Given the description of an element on the screen output the (x, y) to click on. 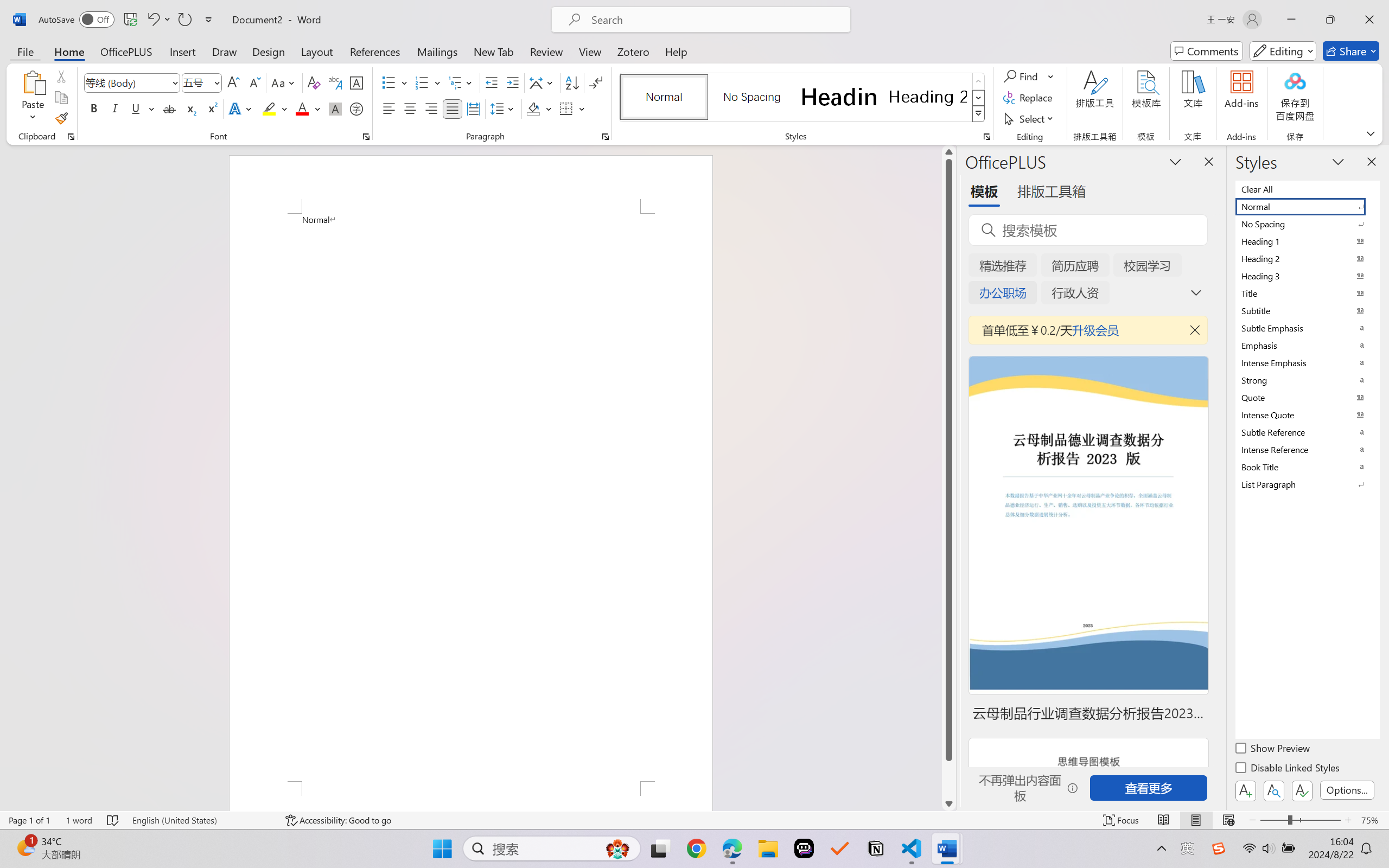
Row up (978, 81)
Mailings (437, 51)
Replace... (1029, 97)
Zoom In (1348, 819)
Help (675, 51)
Line down (948, 803)
Subtle Reference (1306, 431)
Zotero (632, 51)
Class: MsoCommandBar (694, 819)
Subtitle (1306, 310)
AutomationID: BadgeAnchorLargeTicker (24, 847)
Options... (1346, 789)
Web Layout (1228, 819)
